Given the description of an element on the screen output the (x, y) to click on. 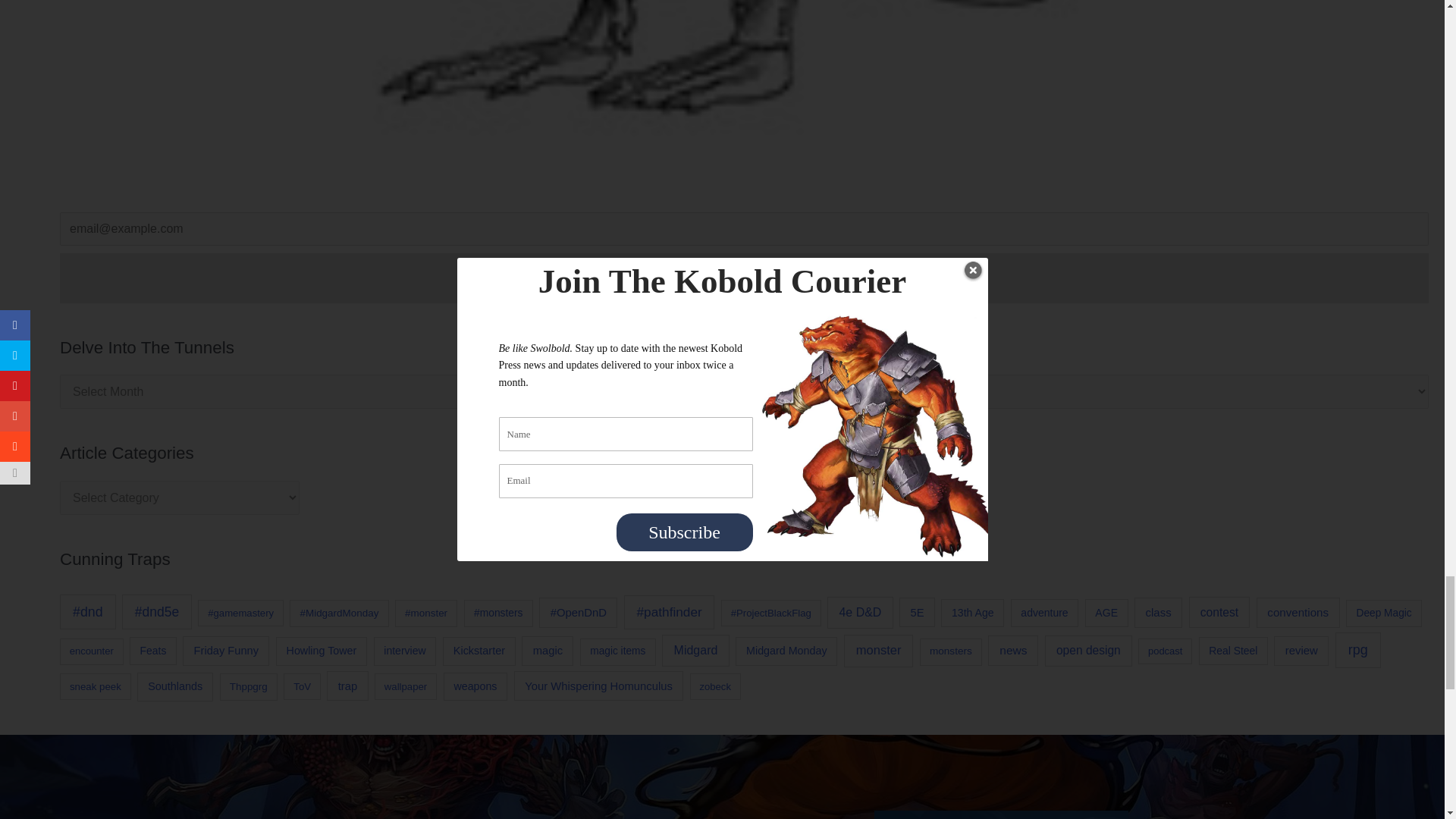
Subscribe (743, 278)
